Given the description of an element on the screen output the (x, y) to click on. 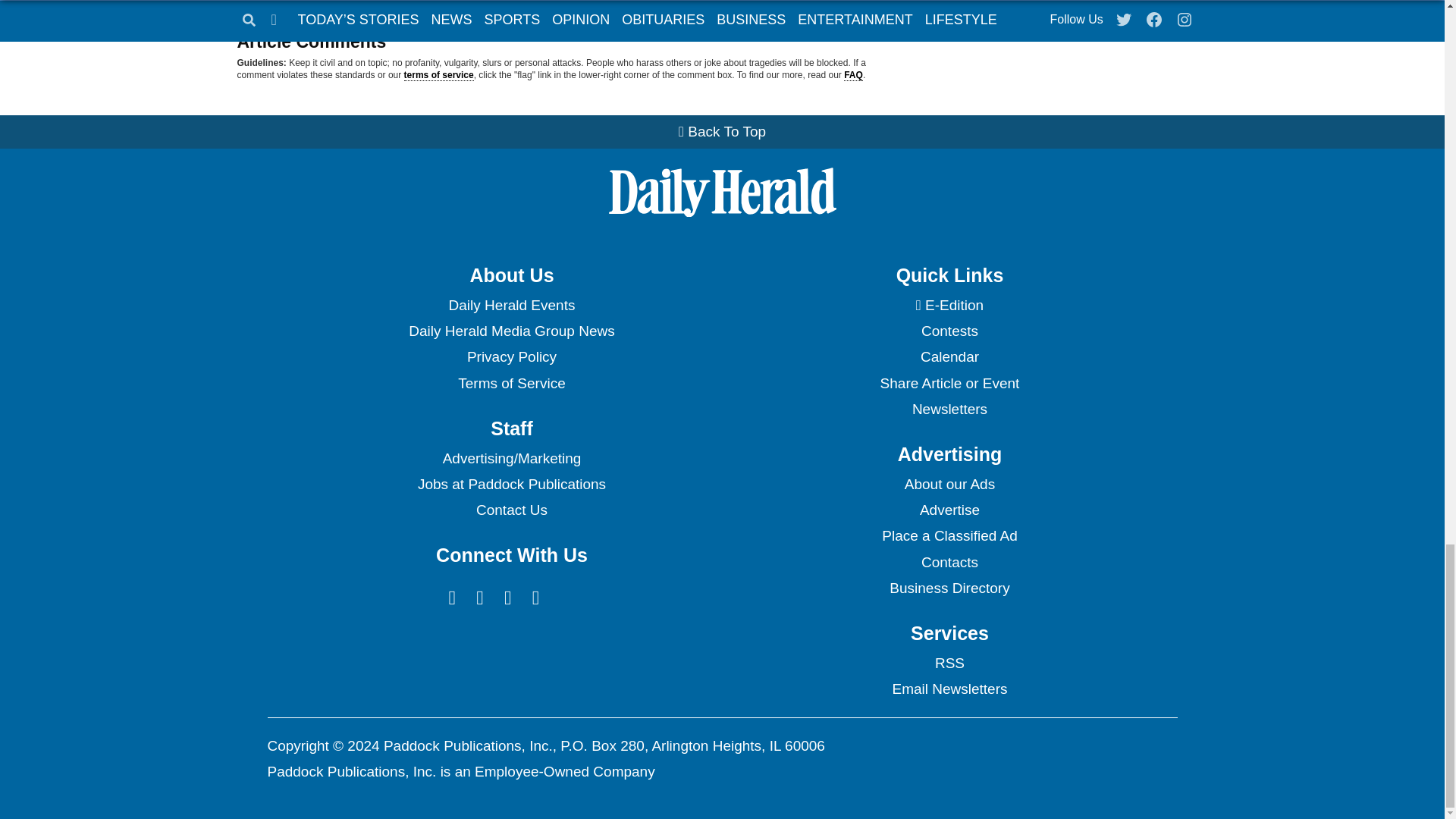
Jobs at Paddock Publications (511, 484)
Daily Herald Digital Newspaper (949, 305)
Contact Us (511, 510)
Daily Herald Events (511, 305)
Terms of Service (511, 383)
Privacy Policy (511, 356)
Contests (949, 330)
Daily Herald Media Group News (511, 330)
